Given the description of an element on the screen output the (x, y) to click on. 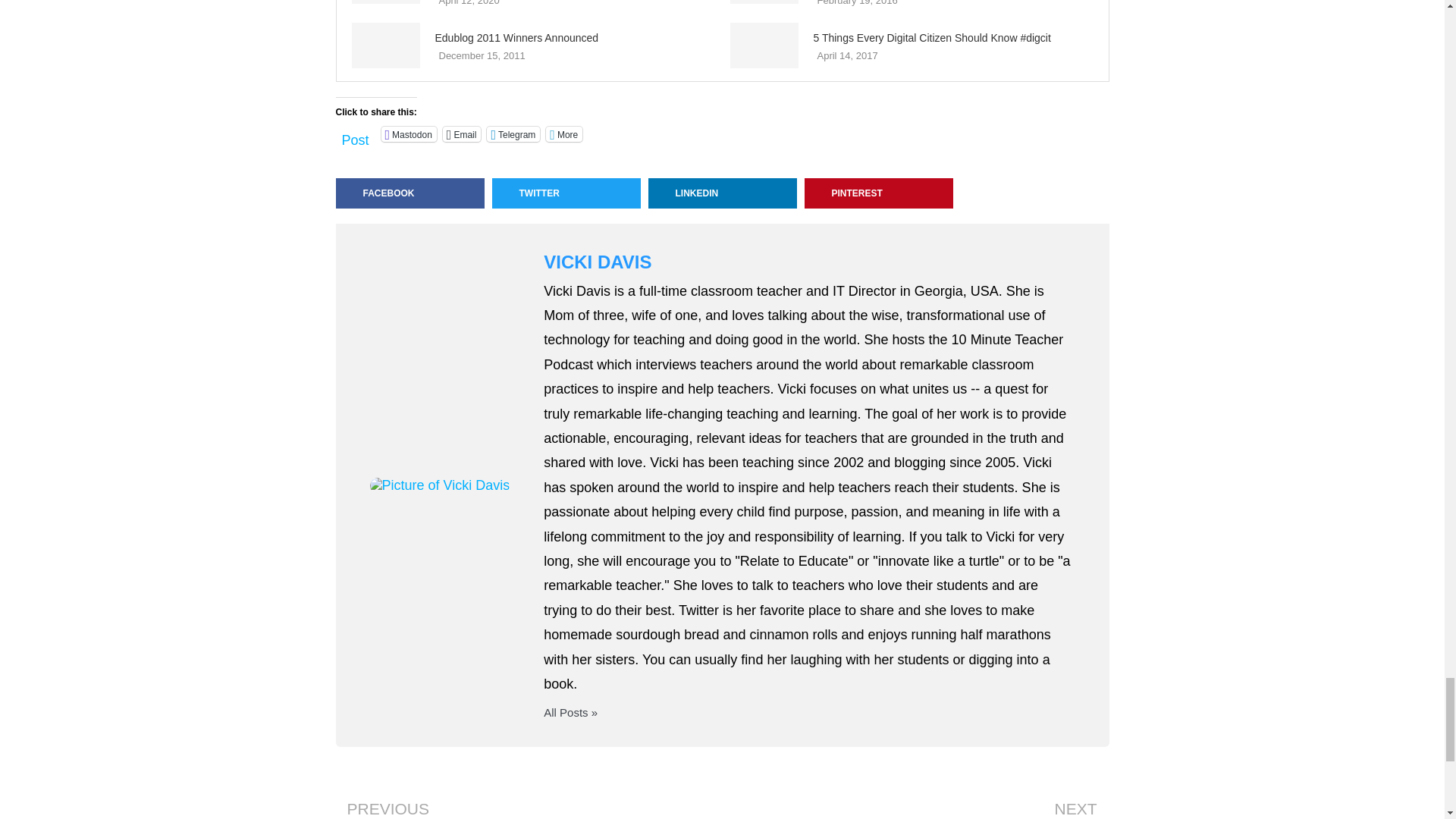
Click to email a link to a friend (461, 133)
Click to share on Mastodon (408, 133)
Edublog 2011 Winners Announced (386, 44)
Click to share on Telegram (513, 133)
